Given the description of an element on the screen output the (x, y) to click on. 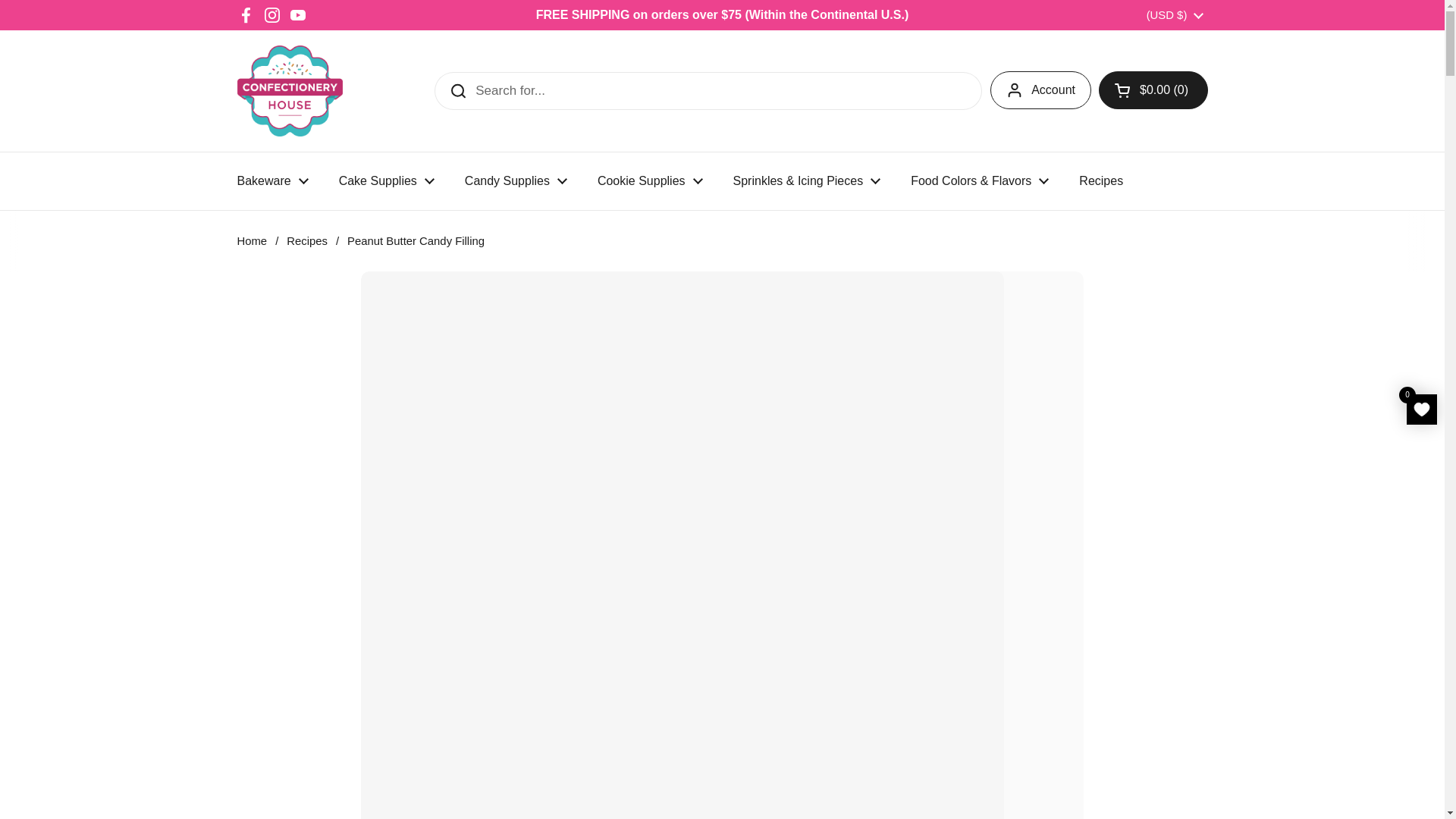
Facebook (244, 14)
Open cart (1153, 89)
Candy Supplies (515, 181)
Cake Supplies (386, 181)
Bakeware (272, 181)
Account (1040, 89)
Instagram (271, 14)
YouTube (296, 14)
Confectionery House (288, 90)
